Given the description of an element on the screen output the (x, y) to click on. 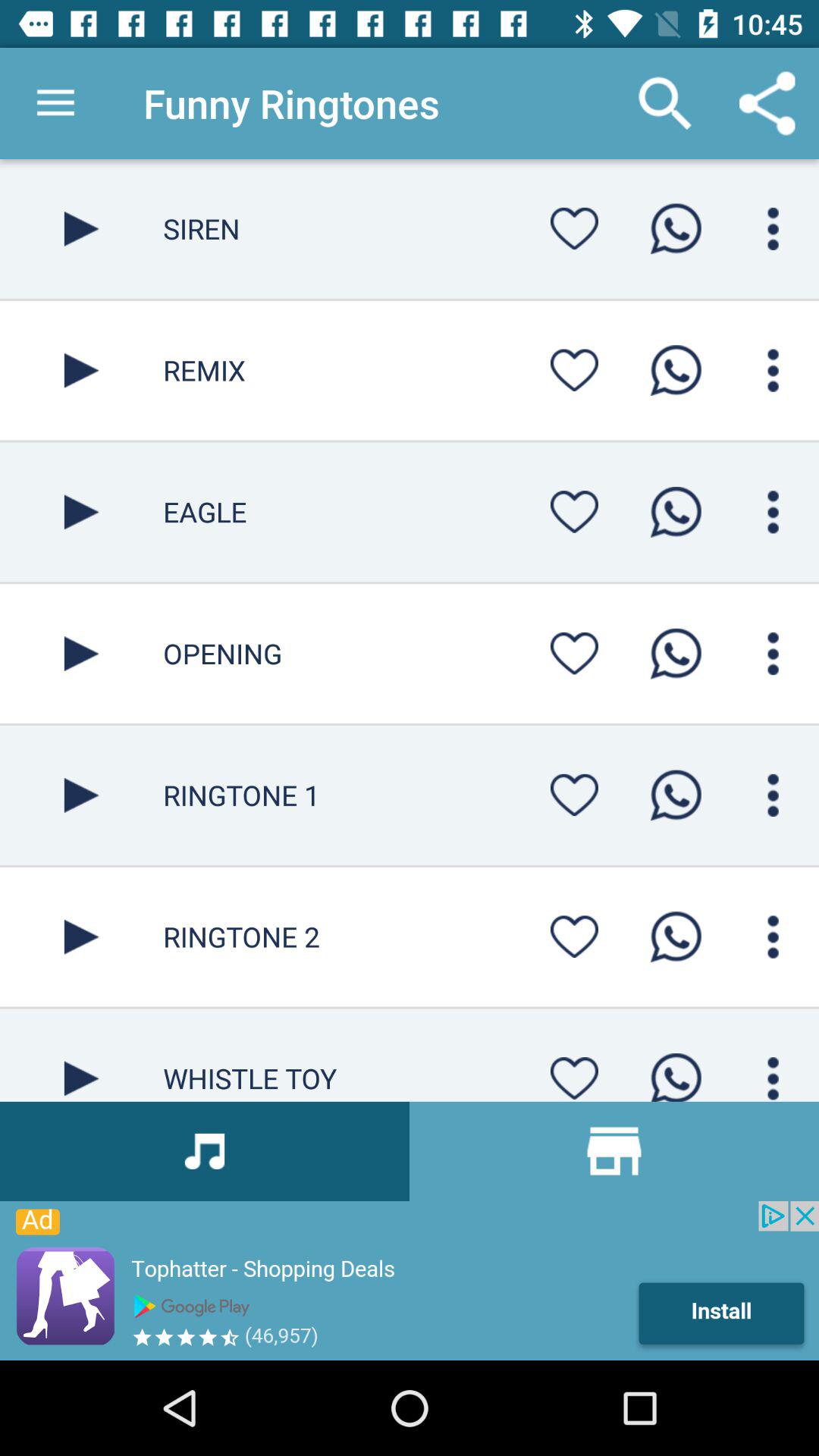
whatspp option (675, 1072)
